Given the description of an element on the screen output the (x, y) to click on. 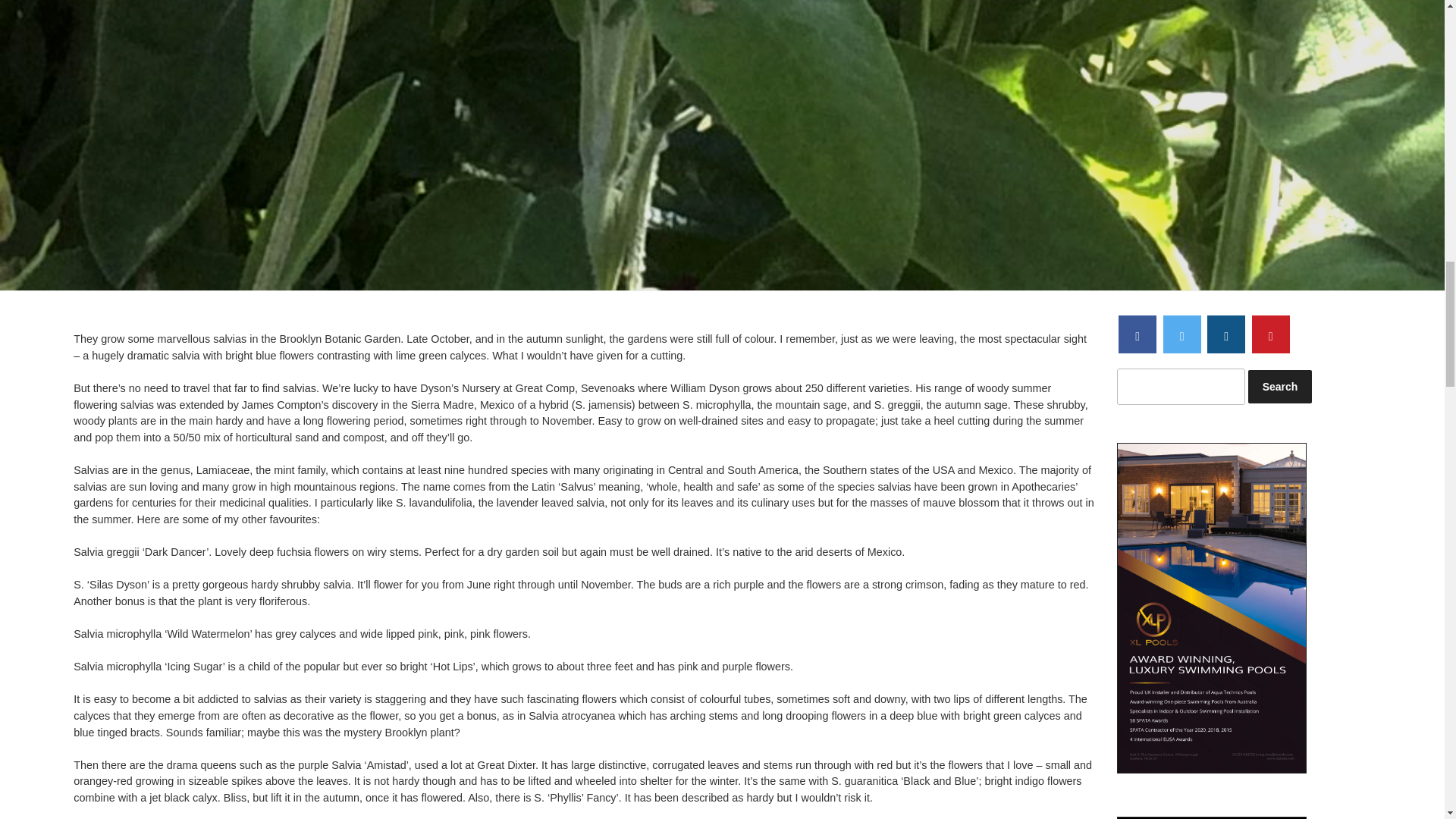
Search (1279, 386)
Search (1279, 386)
